Given the description of an element on the screen output the (x, y) to click on. 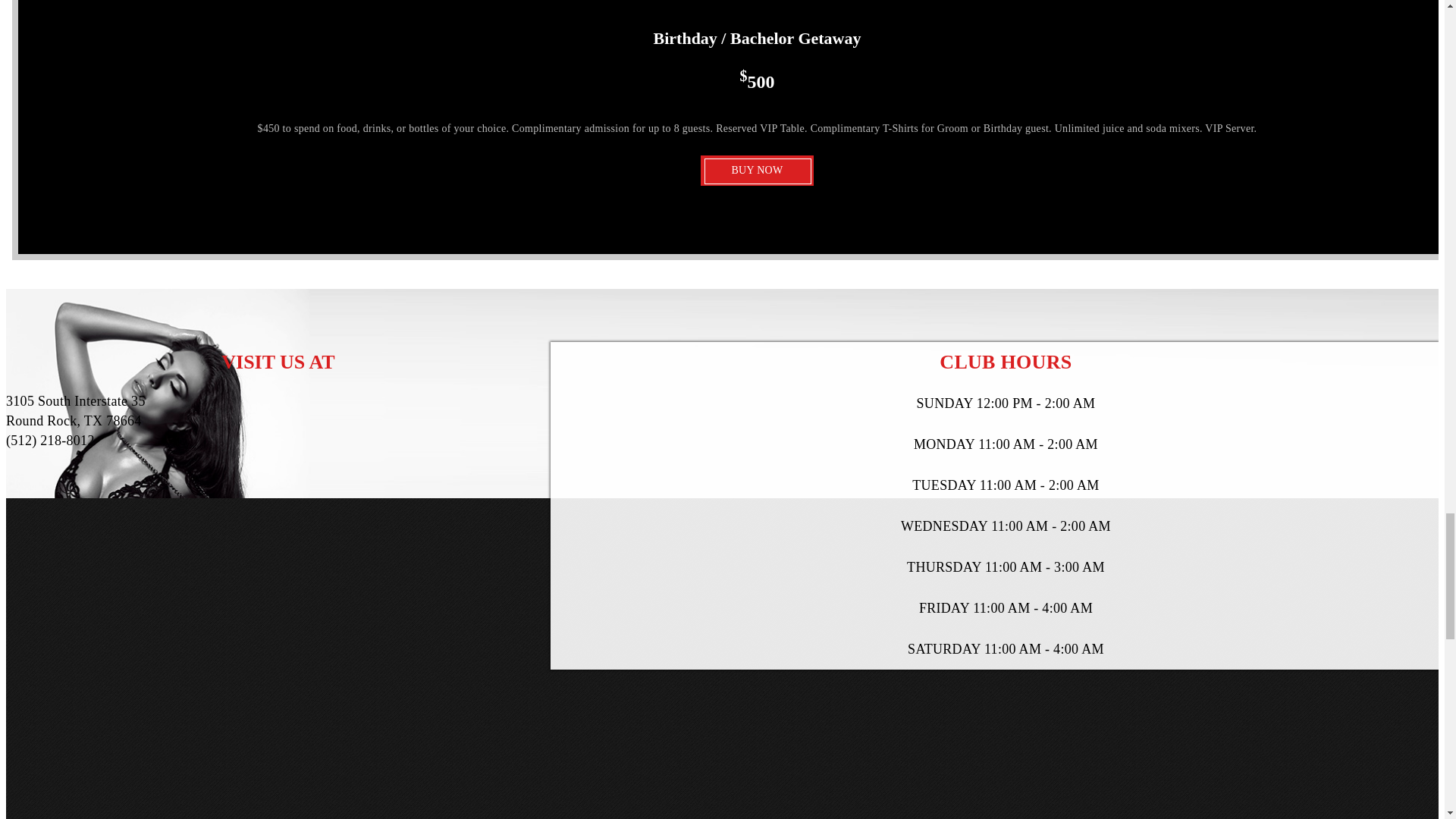
Buy Now (756, 170)
BUY NOW (756, 170)
